Given the description of an element on the screen output the (x, y) to click on. 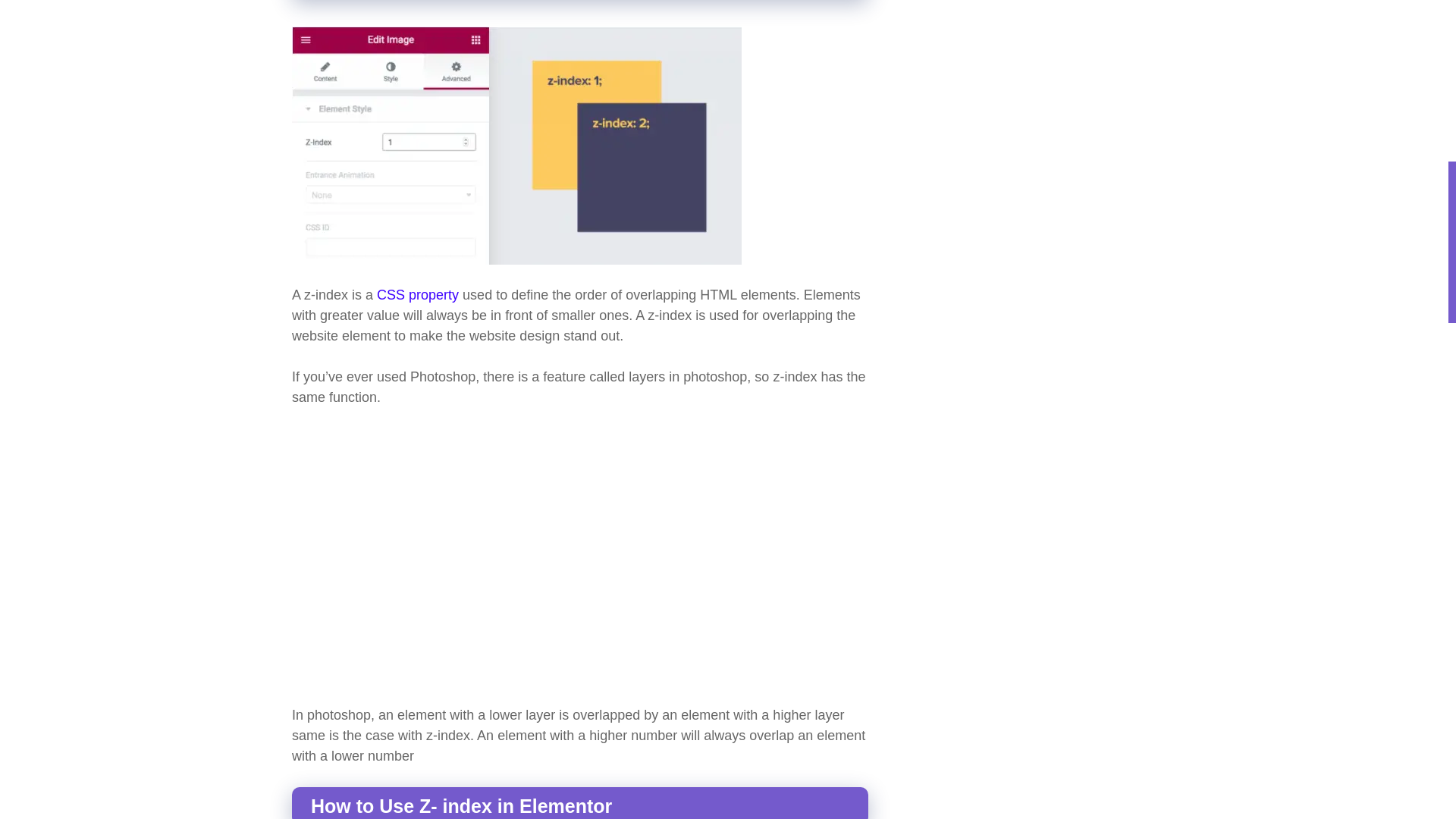
CSS property (417, 294)
